Given the description of an element on the screen output the (x, y) to click on. 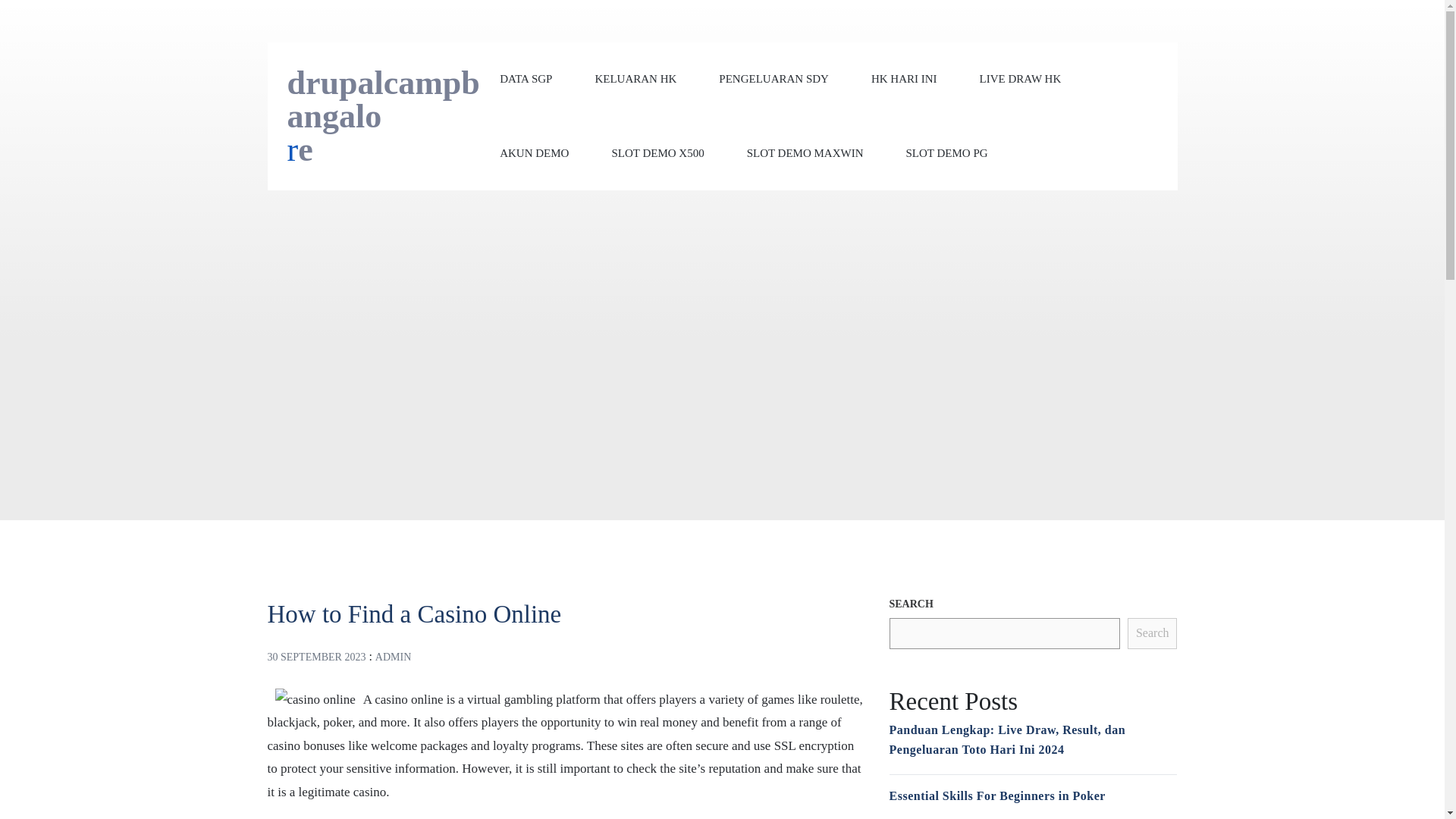
LIVE DRAW HK (1020, 78)
Search (1151, 633)
PENGELUARAN SDY (773, 78)
ADMIN (392, 655)
SLOT DEMO X500 (657, 152)
SLOT DEMO MAXWIN (804, 152)
KELUARAN HK (635, 78)
30 SEPTEMBER 2023 (315, 655)
DATA SGP (525, 78)
AKUN DEMO (534, 152)
